Given the description of an element on the screen output the (x, y) to click on. 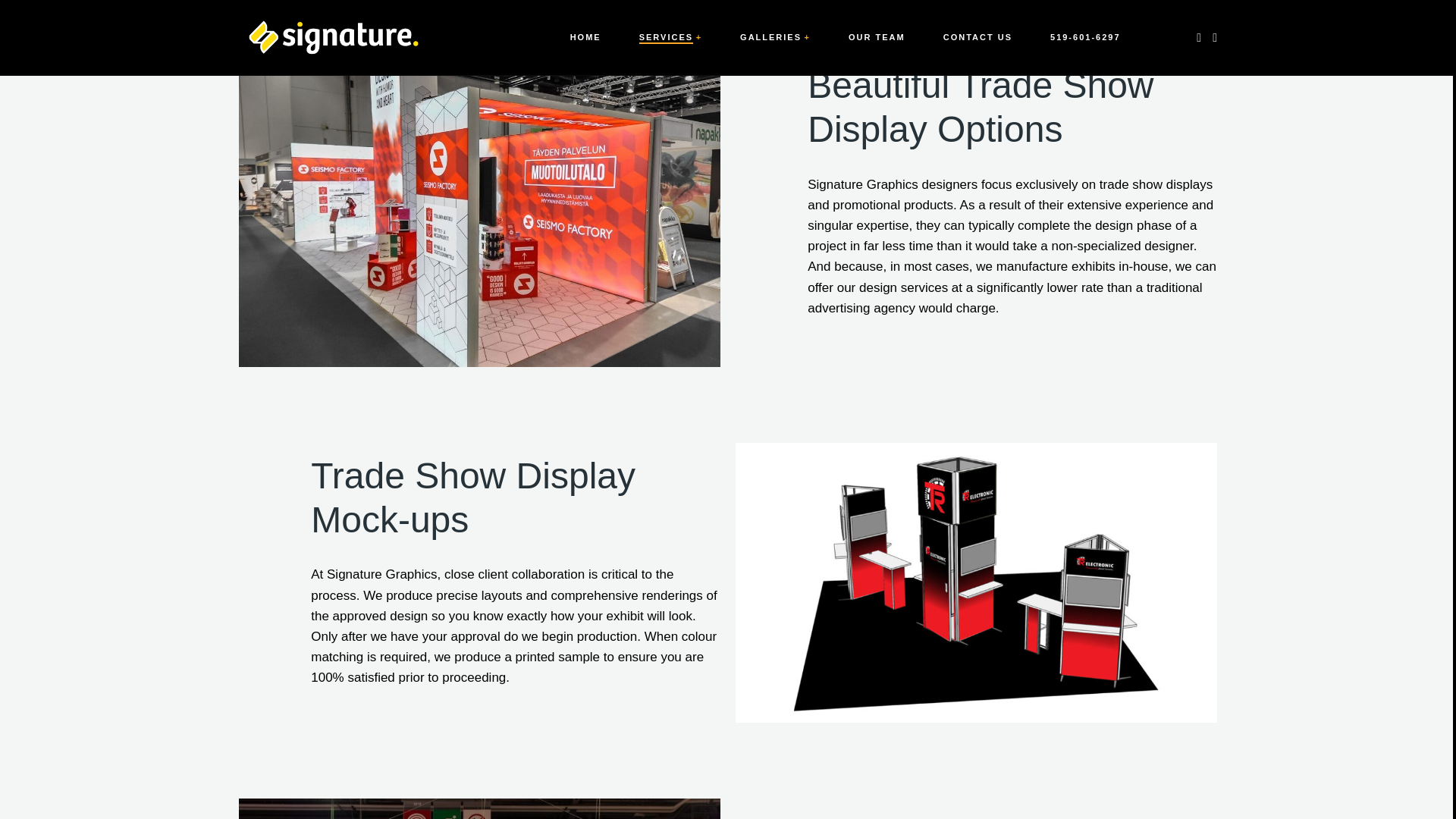
Trade Show Displays (479, 808)
